Given the description of an element on the screen output the (x, y) to click on. 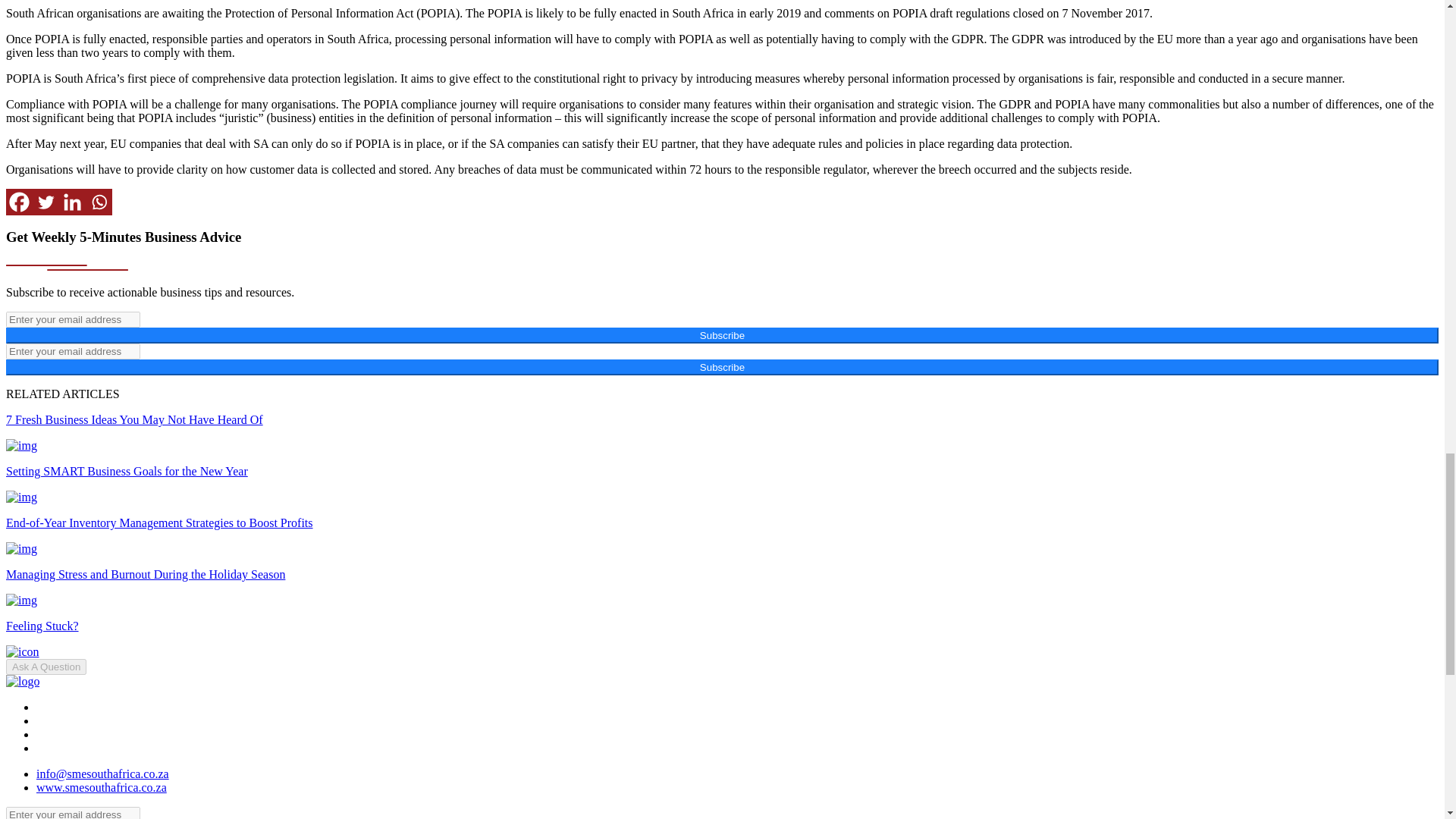
Twitter (45, 202)
Whatsapp (98, 202)
Facebook (18, 202)
Linkedin (72, 202)
Ask A Question (45, 666)
